Given the description of an element on the screen output the (x, y) to click on. 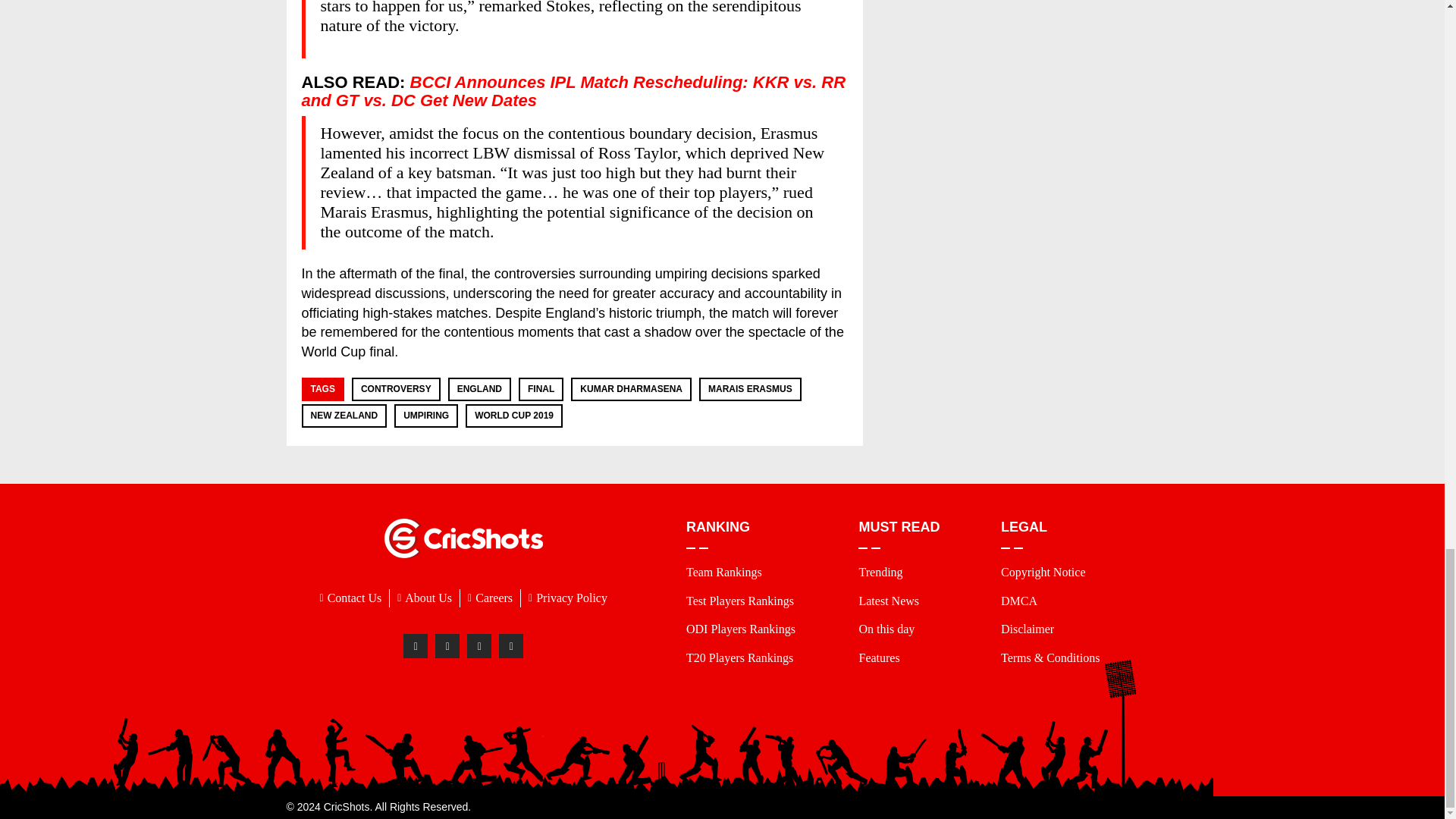
UMPIRING (425, 415)
NEW ZEALAND (344, 415)
MARAIS ERASMUS (749, 388)
KUMAR DHARMASENA (630, 388)
FINAL (540, 388)
ENGLAND (479, 388)
CONTROVERSY (395, 388)
WORLD CUP 2019 (513, 415)
